Given the description of an element on the screen output the (x, y) to click on. 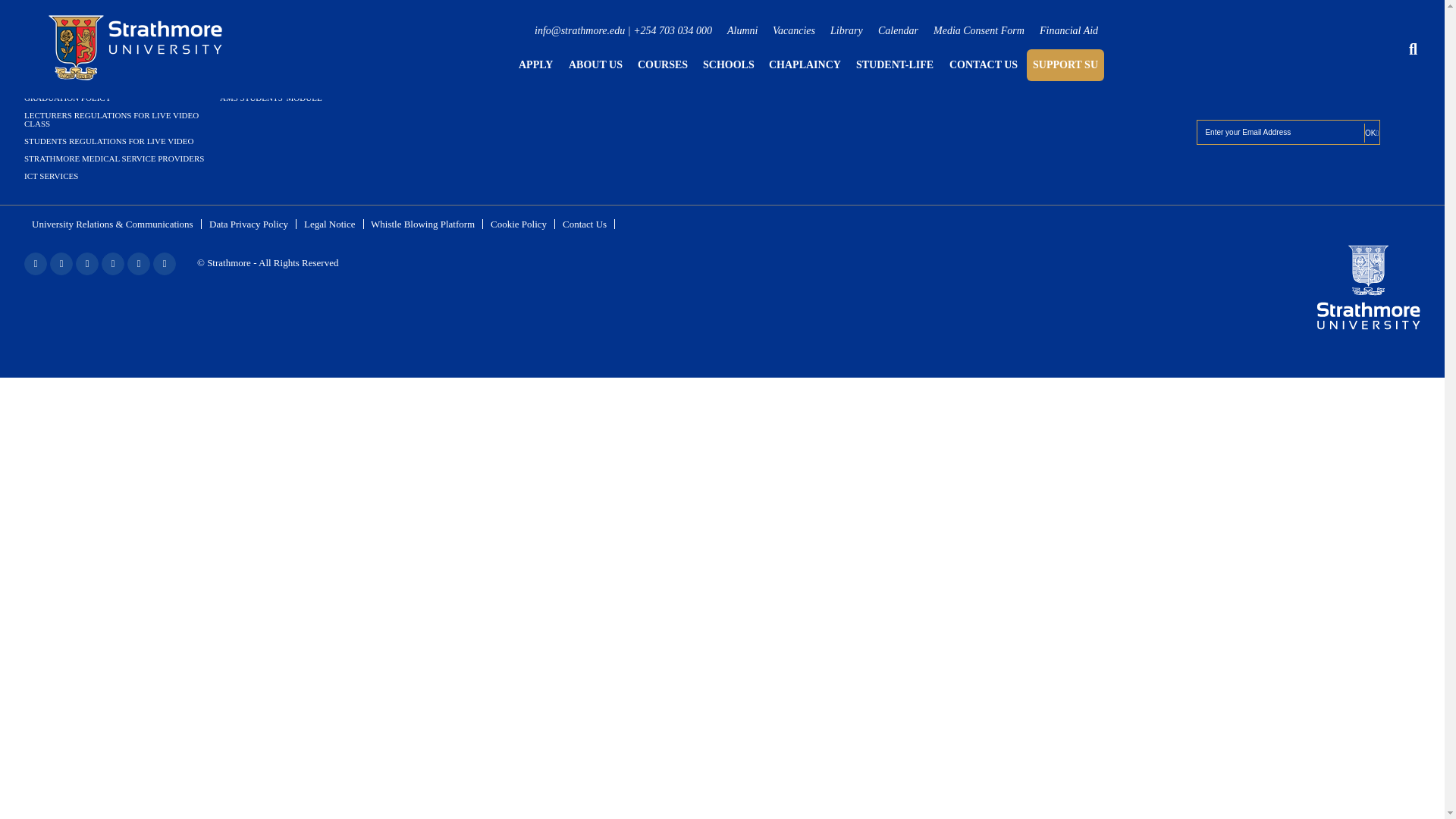
COURSES (662, 64)
Library (846, 30)
Calendar (897, 30)
CHAPLAINCY (804, 64)
Media Consent Form (979, 30)
STUDENT-LIFE (894, 64)
Financial Aid (1068, 30)
CONTACT US (983, 64)
ABOUT US (596, 64)
Alumni (741, 30)
Vacancies (794, 30)
SUPPORT SU (1064, 64)
APPLY (535, 64)
SCHOOLS (728, 64)
